Given the description of an element on the screen output the (x, y) to click on. 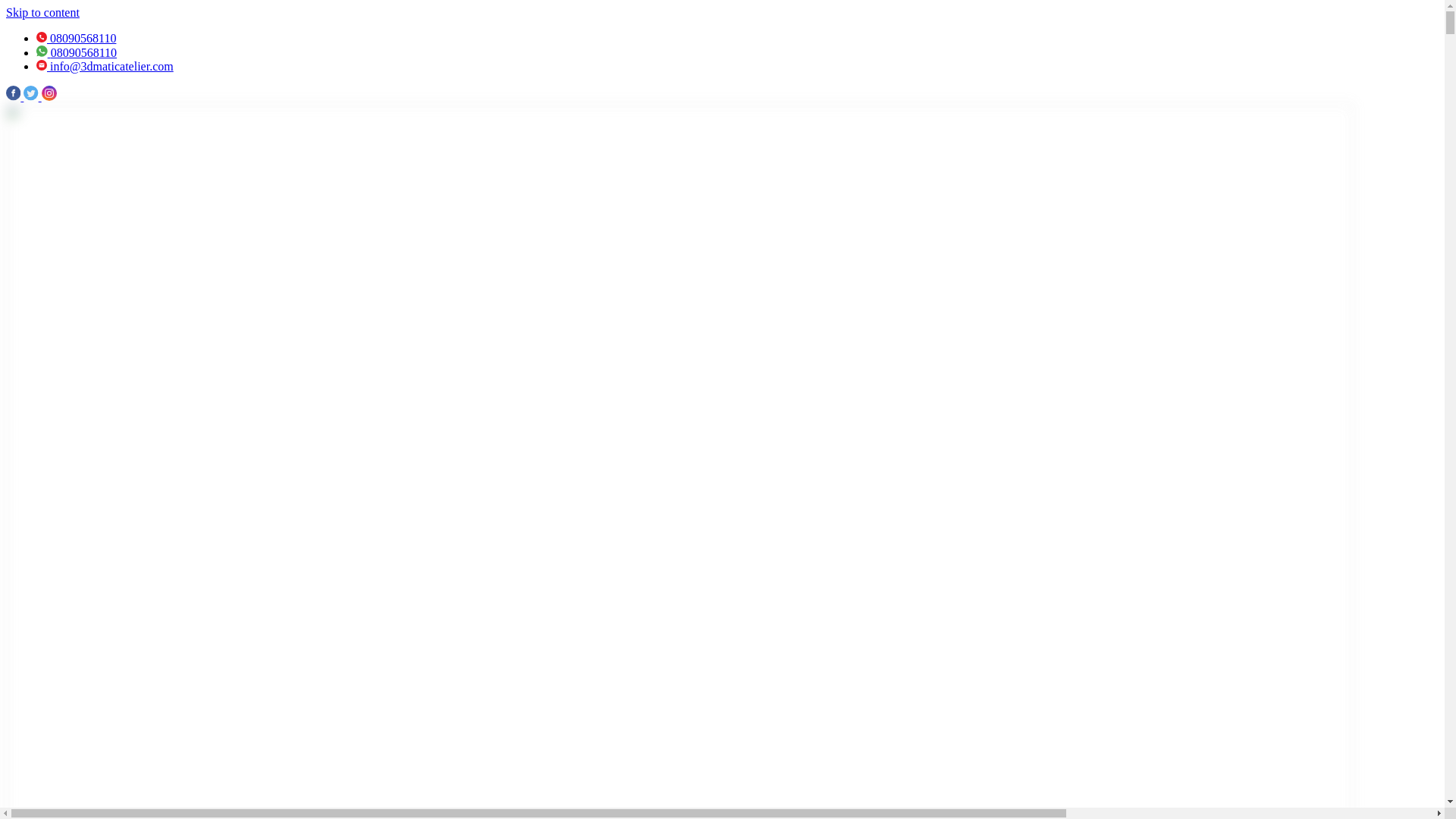
info@3dmaticatelier.com Element type: text (104, 65)
08090568110 Element type: text (76, 52)
08090568110 Element type: text (76, 37)
Skip to content Element type: text (42, 12)
